Given the description of an element on the screen output the (x, y) to click on. 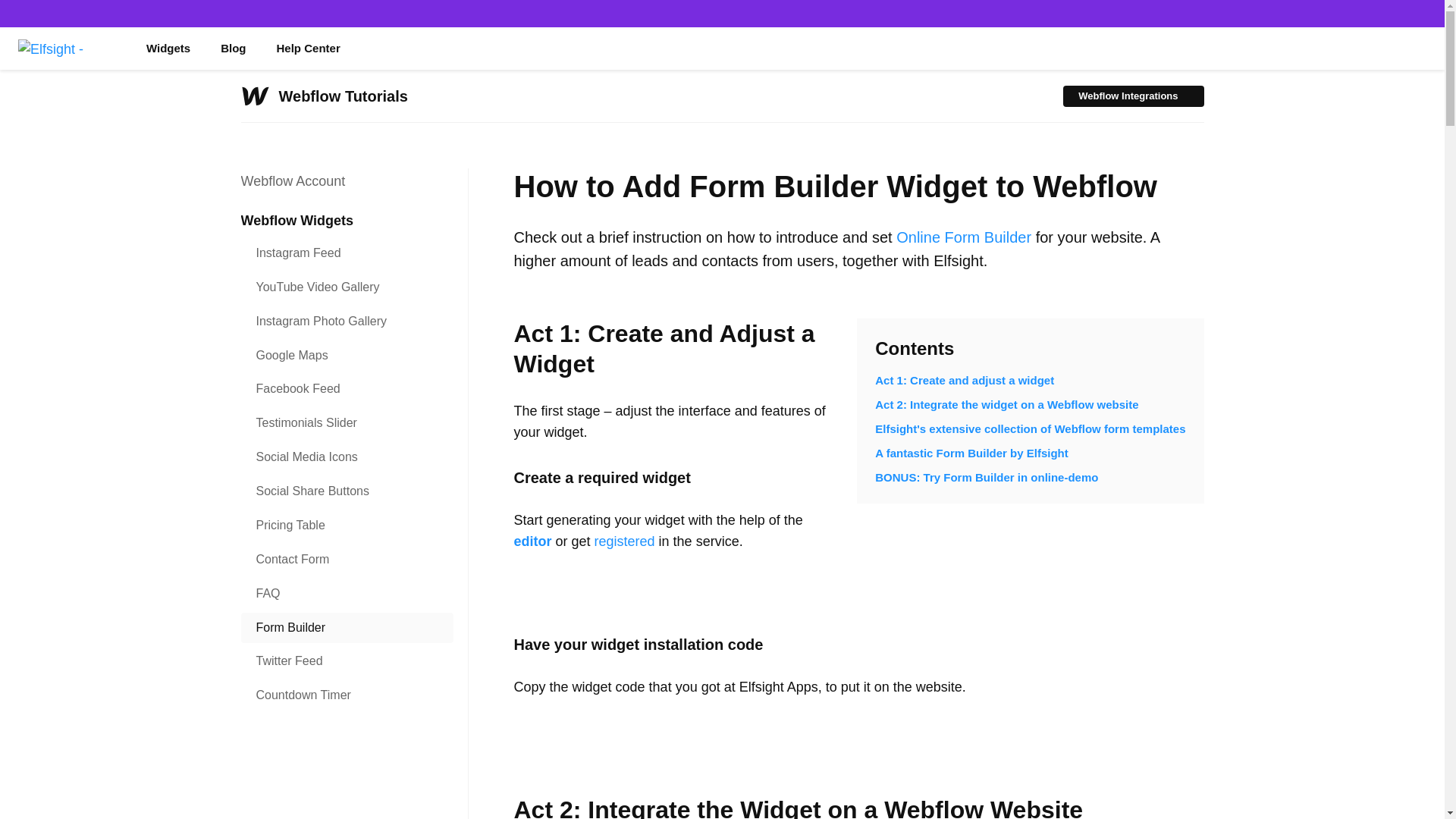
Elfsight - Premium Plugins For Websites (66, 48)
Widgets (168, 48)
